Given the description of an element on the screen output the (x, y) to click on. 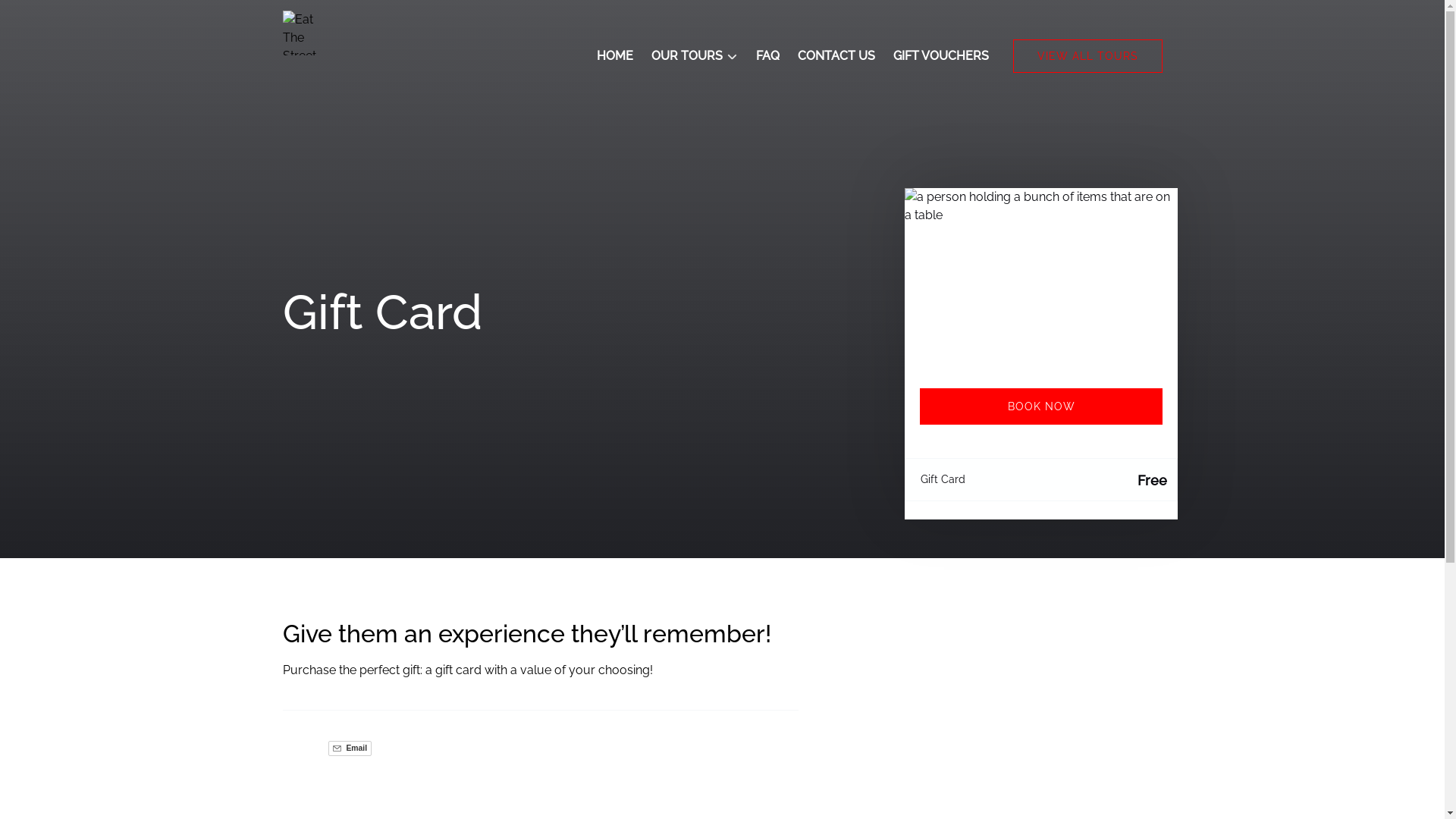
FAQ Element type: text (766, 55)
Email Element type: text (349, 748)
Skip to content Element type: text (49, 16)
GIFT VOUCHERS Element type: text (940, 55)
CONTACT US Element type: text (836, 55)
Skip to primary navigation Element type: text (80, 16)
BOOK NOW Element type: text (1040, 406)
HOME Element type: text (613, 55)
OUR TOURS Element type: text (693, 55)
VIEW ALL TOURS Element type: text (1087, 55)
Skip to footer Element type: text (44, 16)
